Given the description of an element on the screen output the (x, y) to click on. 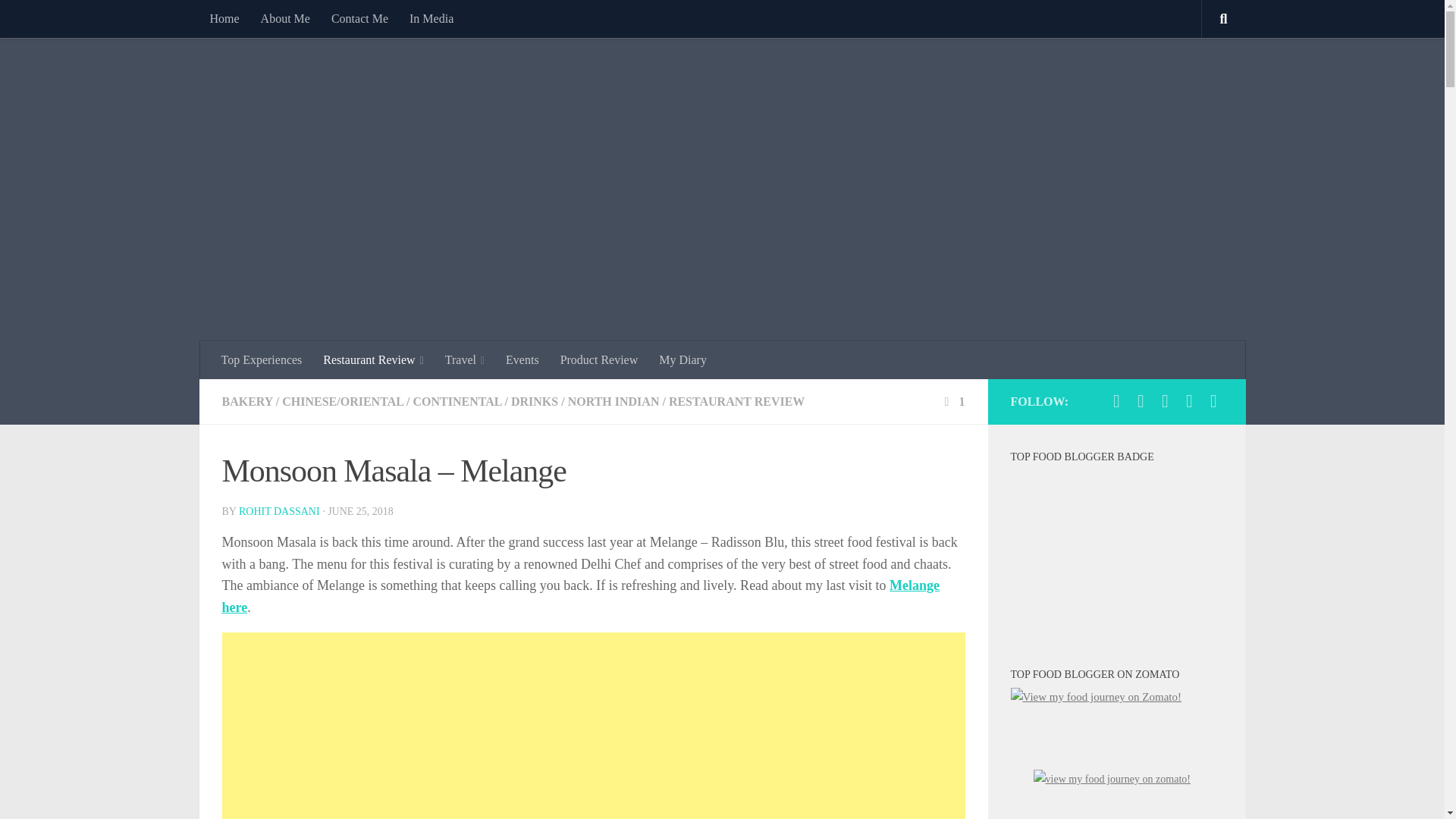
Restaurant Review (373, 360)
Travel (464, 360)
Contact Me (359, 18)
About Me (285, 18)
Skip to content (59, 20)
Posts by Rohit Dassani (279, 511)
Home (223, 18)
In Media (431, 18)
Top Experiences (262, 360)
